Given the description of an element on the screen output the (x, y) to click on. 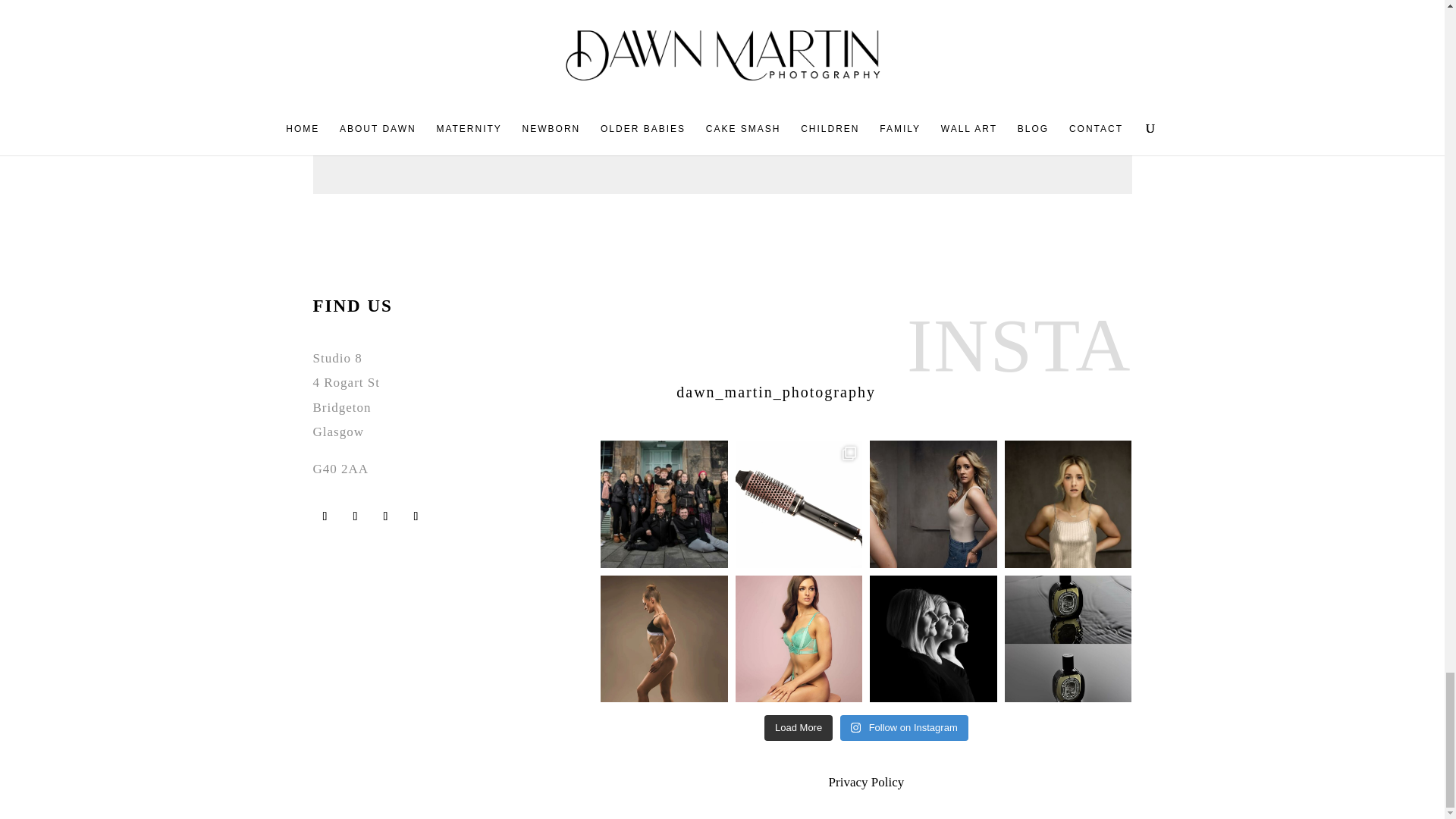
Follow on Instagram (384, 516)
Follow on Facebook (324, 516)
Follow on Pinterest (415, 516)
Follow on Google (354, 516)
SUBMIT COMMENT (1049, 131)
